Given the description of an element on the screen output the (x, y) to click on. 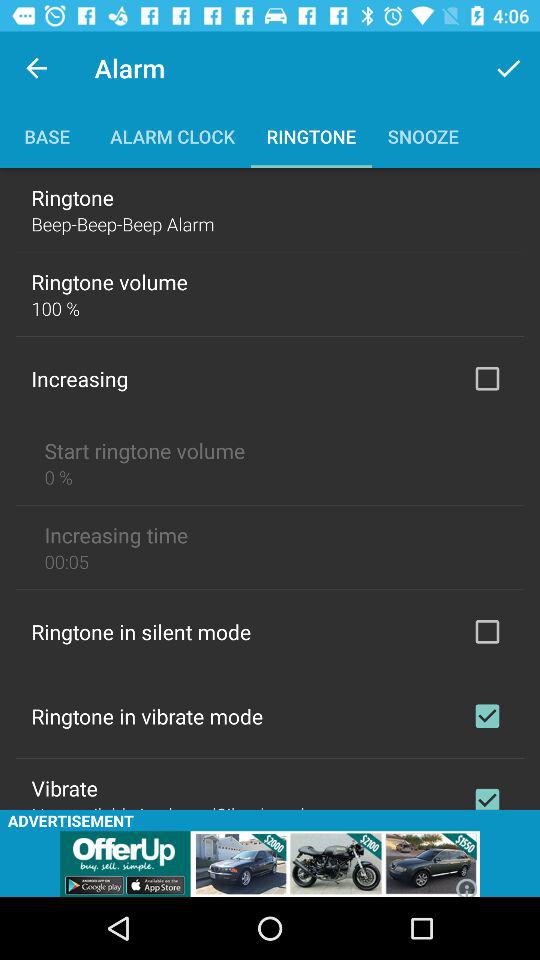
click on advertisement (270, 864)
